Given the description of an element on the screen output the (x, y) to click on. 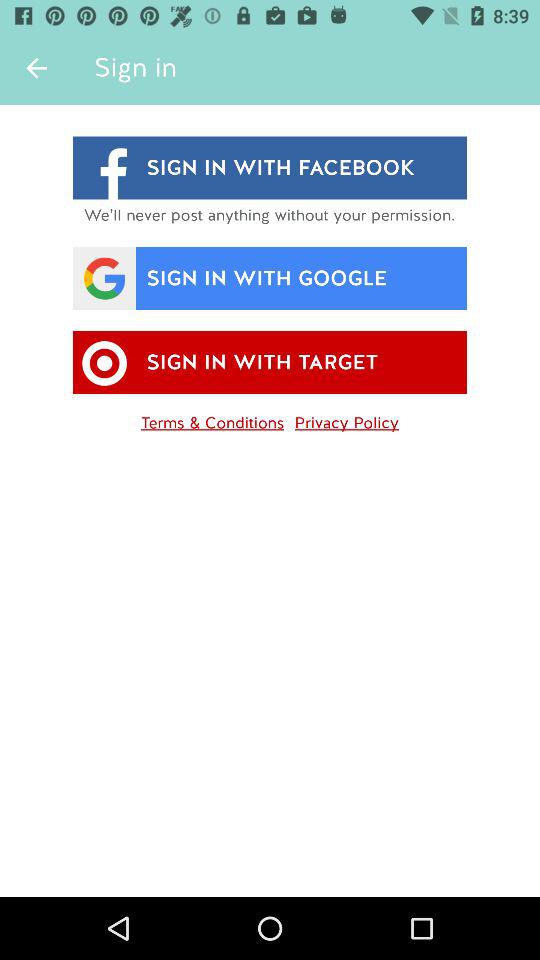
tap item above sign in with item (36, 68)
